Given the description of an element on the screen output the (x, y) to click on. 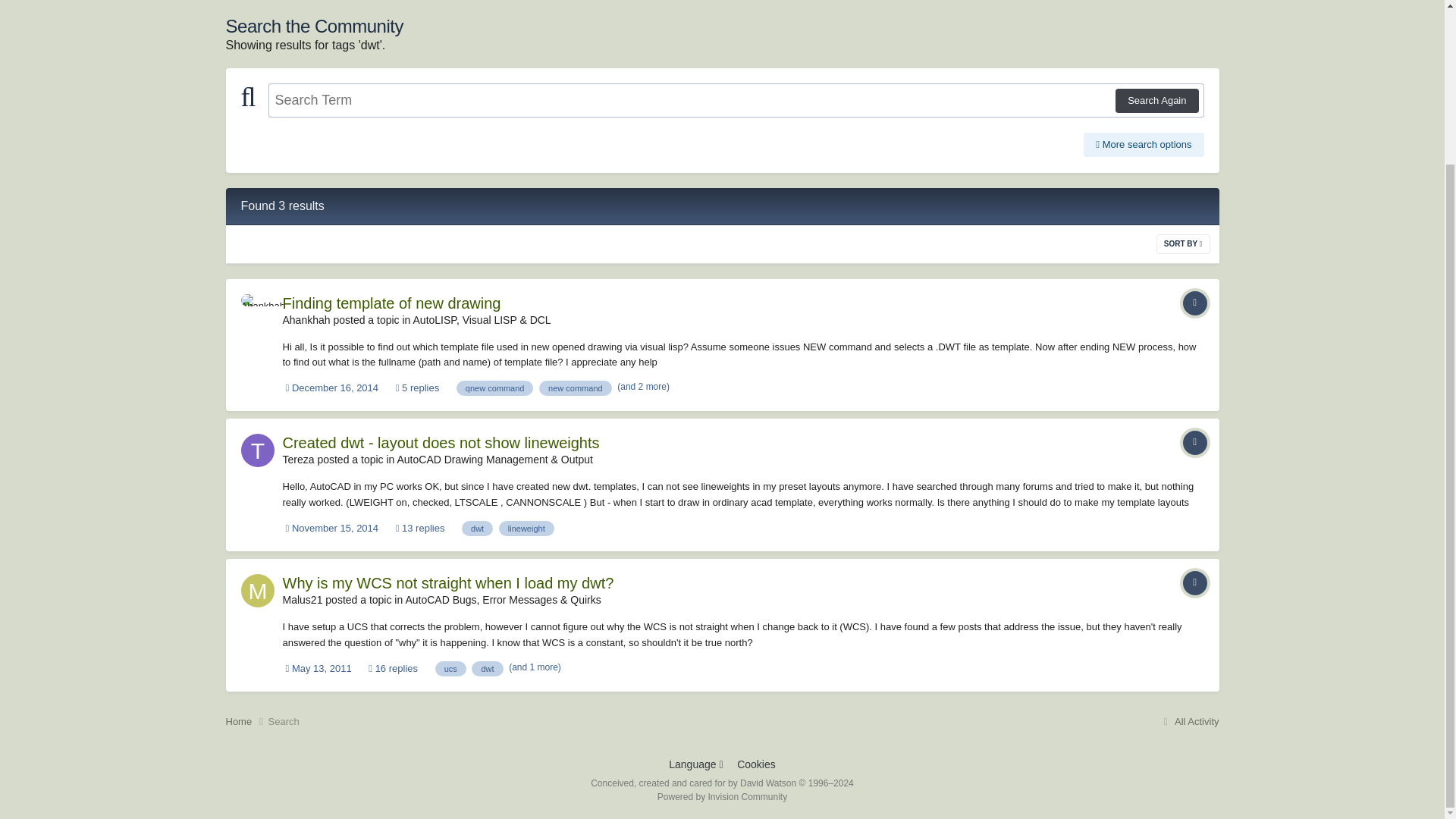
Find other content tagged with 'ucs' (450, 668)
Find other content tagged with 'dwt' (486, 668)
Find other content tagged with 'qnew command' (495, 387)
More search options (1143, 144)
Find other content tagged with 'new command' (574, 387)
Topic (1194, 303)
Topic (1194, 582)
Find other content tagged with 'lineweight' (526, 528)
Find other content tagged with 'dwt' (477, 528)
Topic (1194, 442)
Search Again (1156, 100)
